Given the description of an element on the screen output the (x, y) to click on. 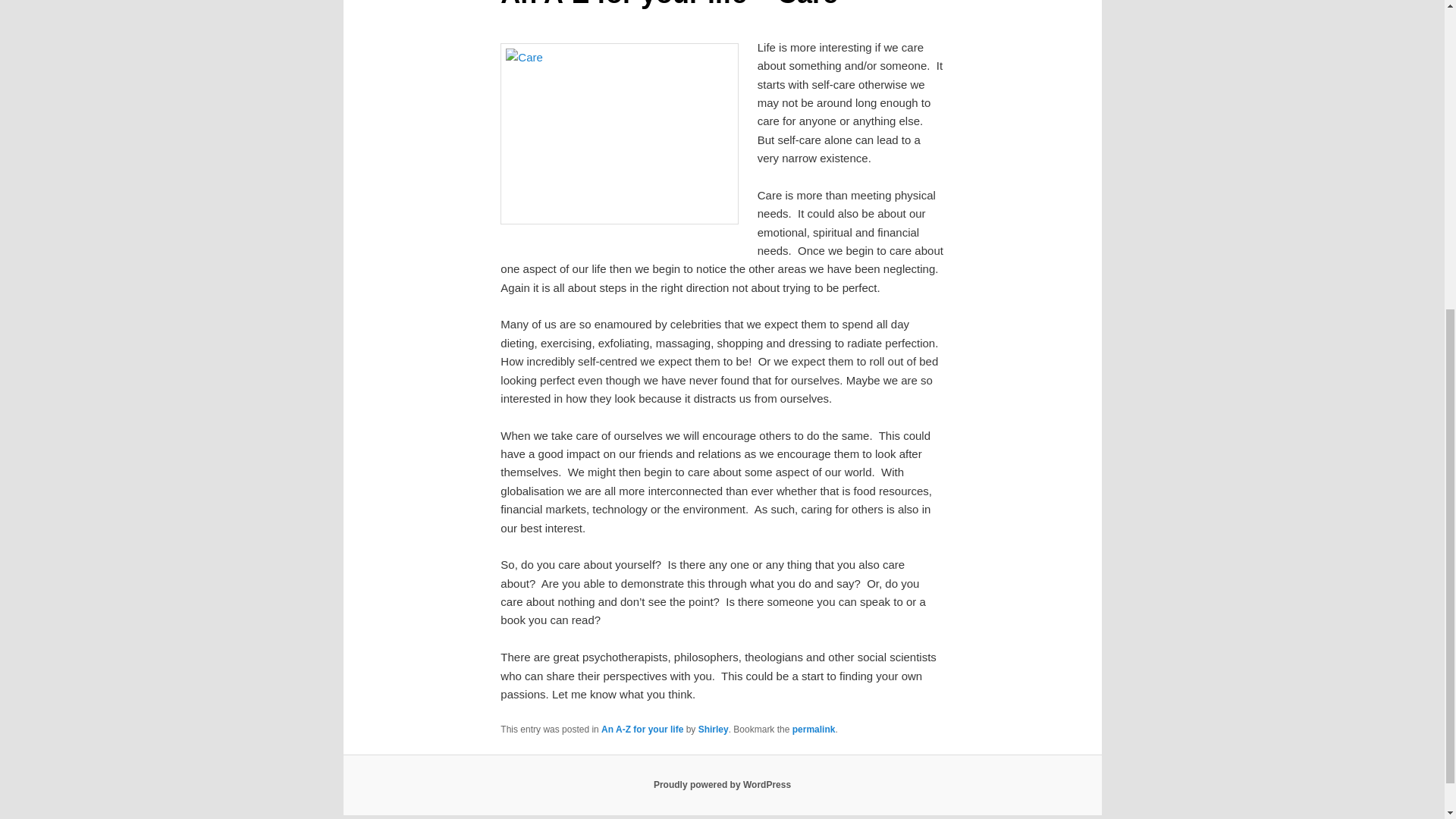
Proudly powered by WordPress (721, 784)
Semantic Personal Publishing Platform (721, 784)
permalink (813, 728)
An A-Z for your life (641, 728)
Shirley (713, 728)
